Given the description of an element on the screen output the (x, y) to click on. 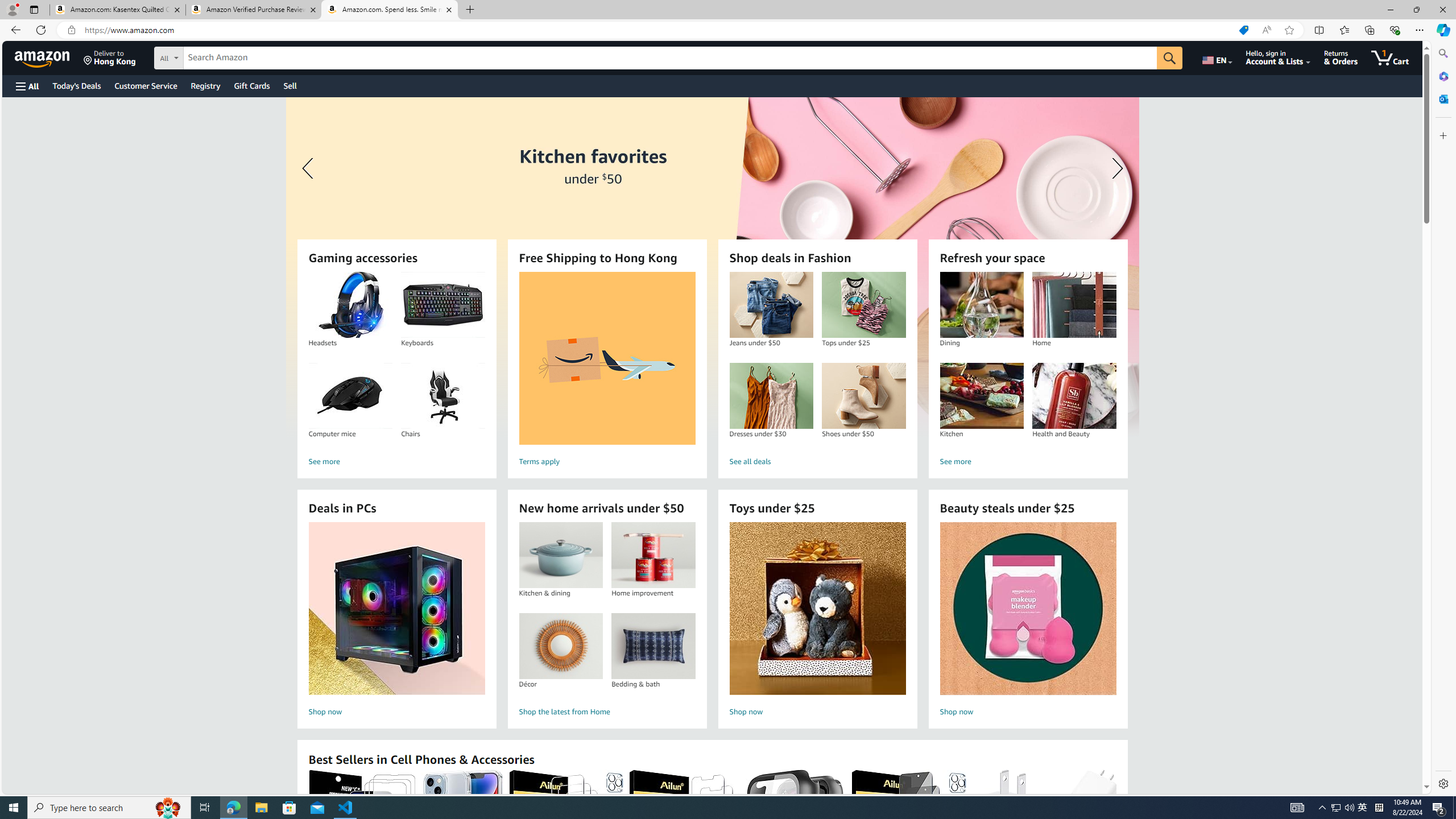
Skip to main content (48, 56)
Hello, sign in Account & Lists (1278, 57)
Toys under $25 Shop now (817, 620)
Deals in PCs Shop now (396, 620)
Computer mice (350, 395)
Headsets (350, 304)
Jeans under $50 (771, 304)
Beauty steals under $25 Shop now (1028, 620)
Returns & Orders (1340, 57)
